Given the description of an element on the screen output the (x, y) to click on. 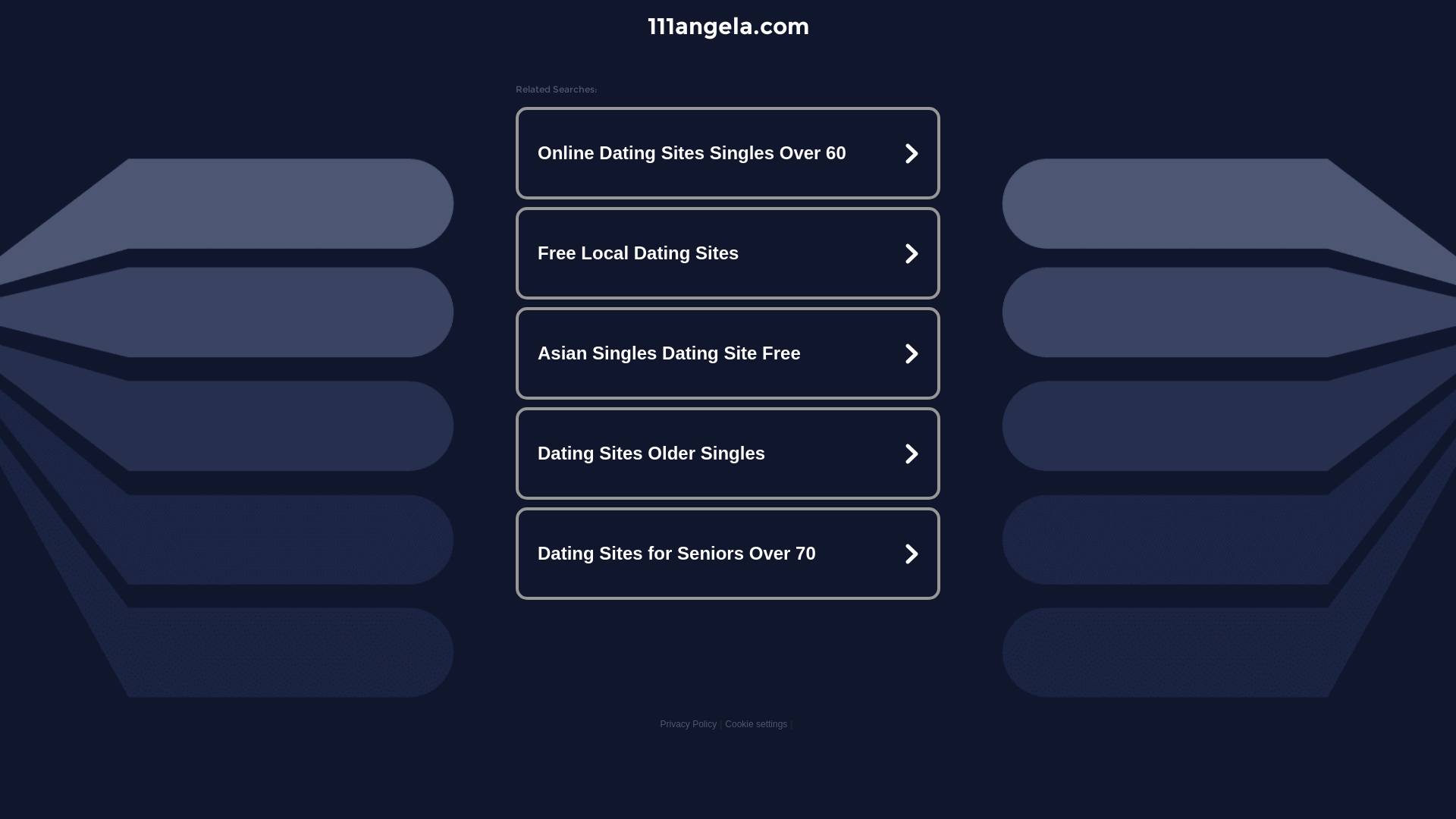
Free Local Dating Sites Element type: text (727, 253)
111angela.com Element type: text (728, 26)
Dating Sites for Seniors Over 70 Element type: text (727, 553)
Cookie settings Element type: text (755, 723)
Dating Sites Older Singles Element type: text (727, 453)
Online Dating Sites Singles Over 60 Element type: text (727, 152)
Asian Singles Dating Site Free Element type: text (727, 353)
Privacy Policy Element type: text (687, 723)
